Given the description of an element on the screen output the (x, y) to click on. 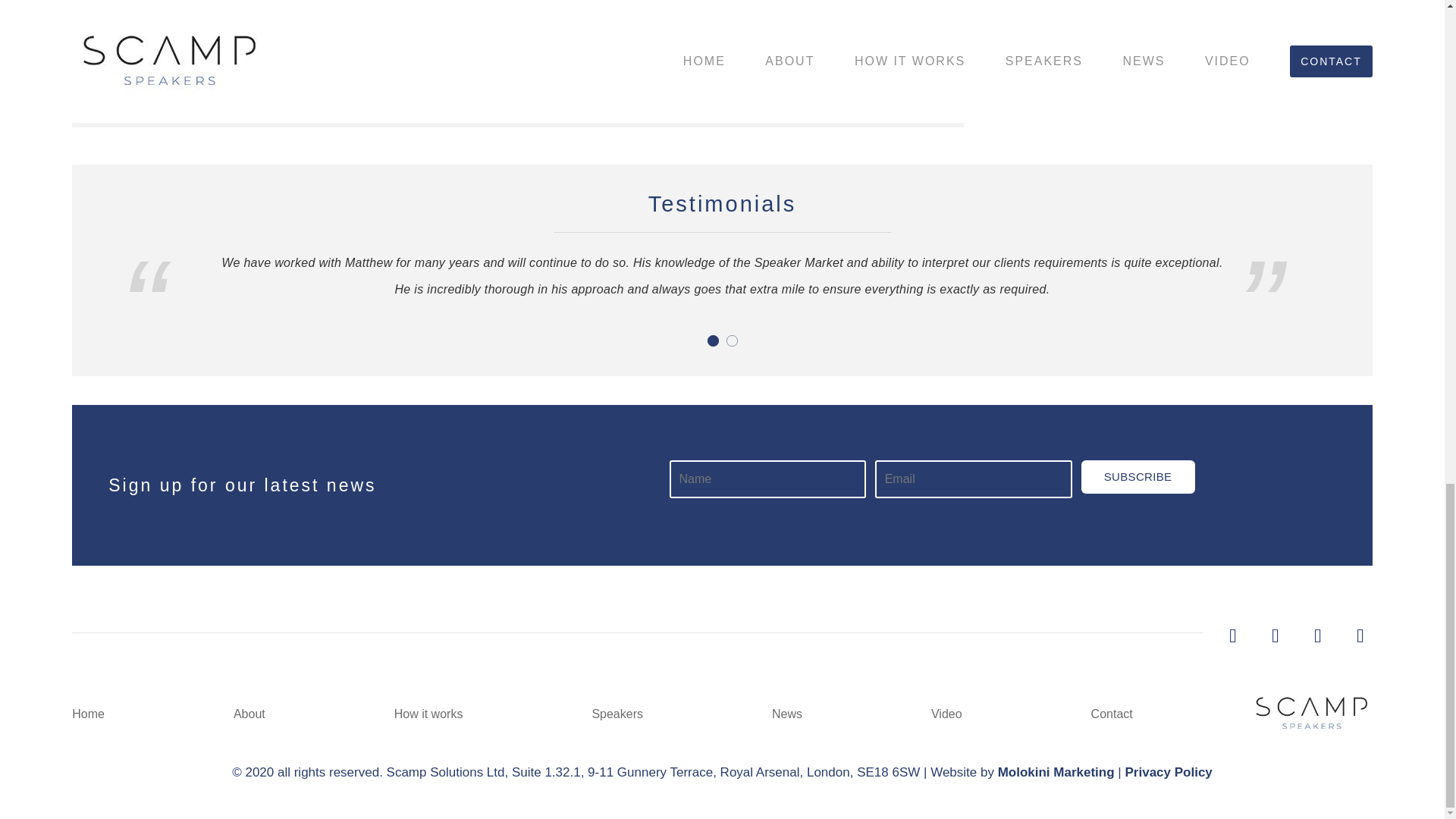
Winston Clements (721, 62)
Follow on Youtube (1360, 636)
Jon Burkhart, (189, 62)
Follow on Instagram (1318, 636)
Darren Edwards, (504, 62)
Josh Littlejohn. (845, 62)
Sophie Bennett, (409, 62)
Follow on LinkedIn (1275, 636)
Anne Wafula Strike, (609, 62)
SUBSCRIBE (1138, 476)
Anthony Bennett, (764, 42)
1 (711, 340)
Matt Ellison (325, 62)
James Poulter (858, 42)
Follow on Twitter (1232, 636)
